Given the description of an element on the screen output the (x, y) to click on. 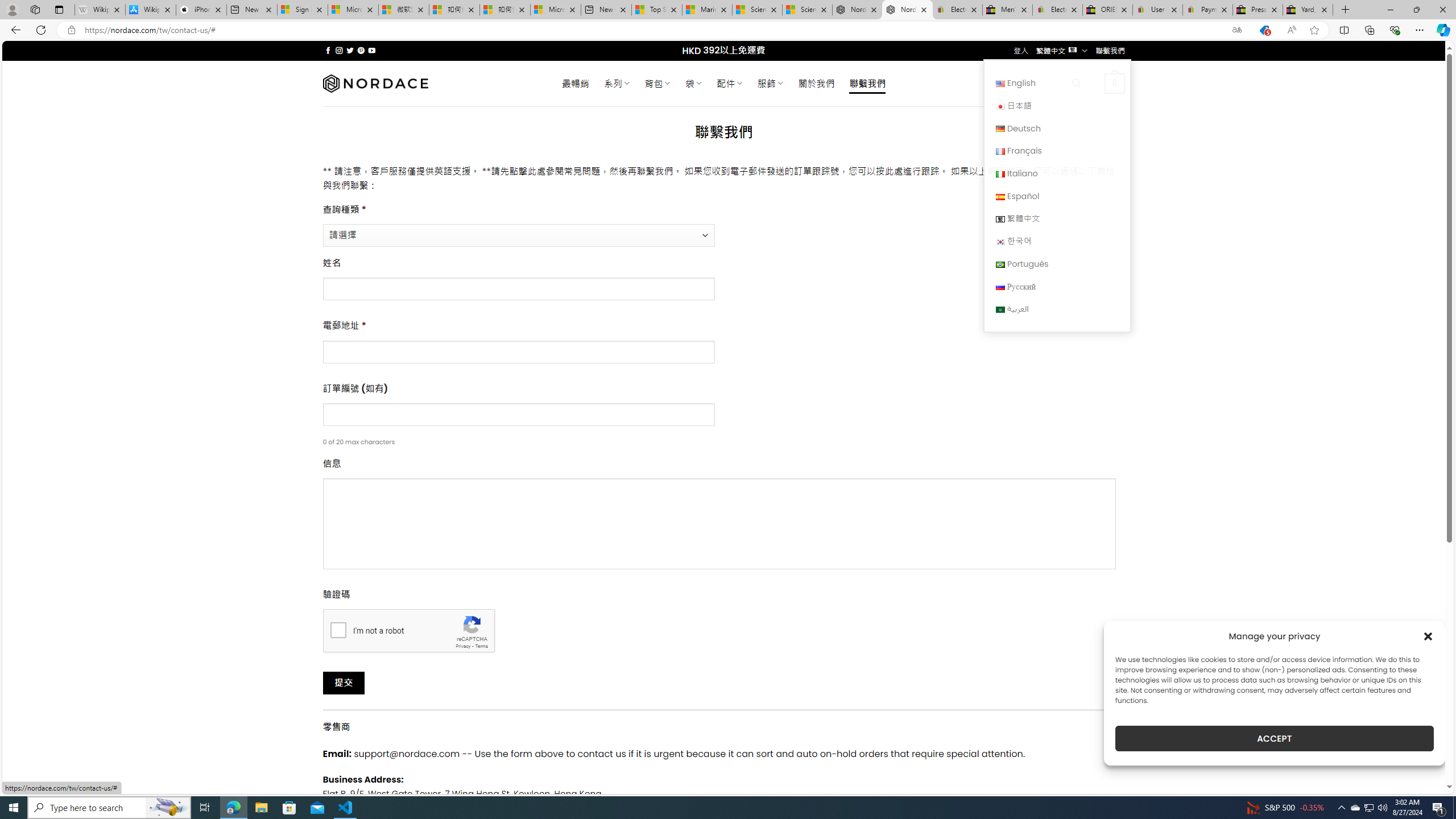
Sign in to your Microsoft account (302, 9)
 Italiano (1056, 173)
English English (1056, 83)
